Given the description of an element on the screen output the (x, y) to click on. 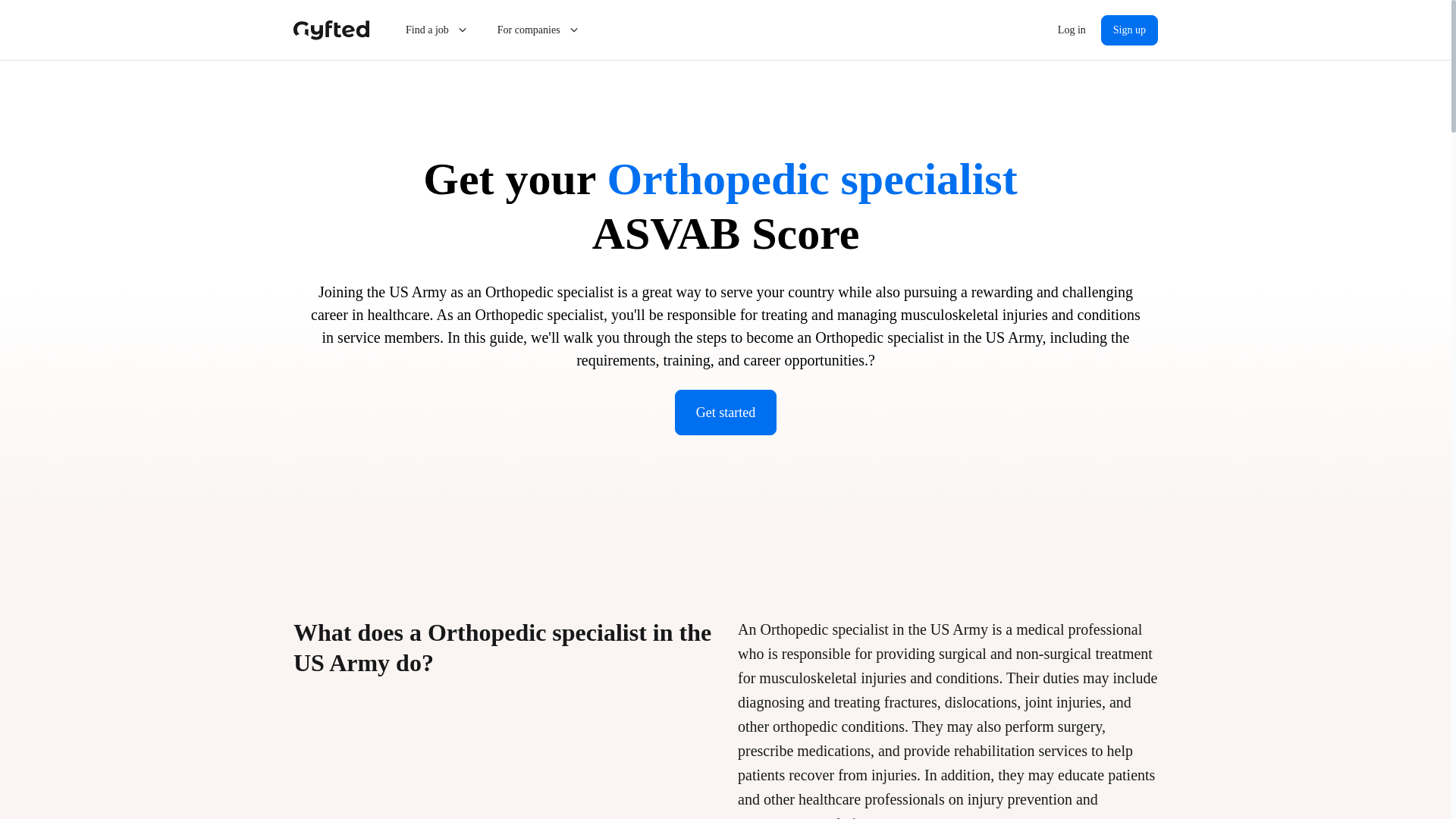
Log in (1071, 30)
Sign up (1128, 30)
Find a job (437, 30)
Get started (725, 411)
For companies (539, 30)
